Given the description of an element on the screen output the (x, y) to click on. 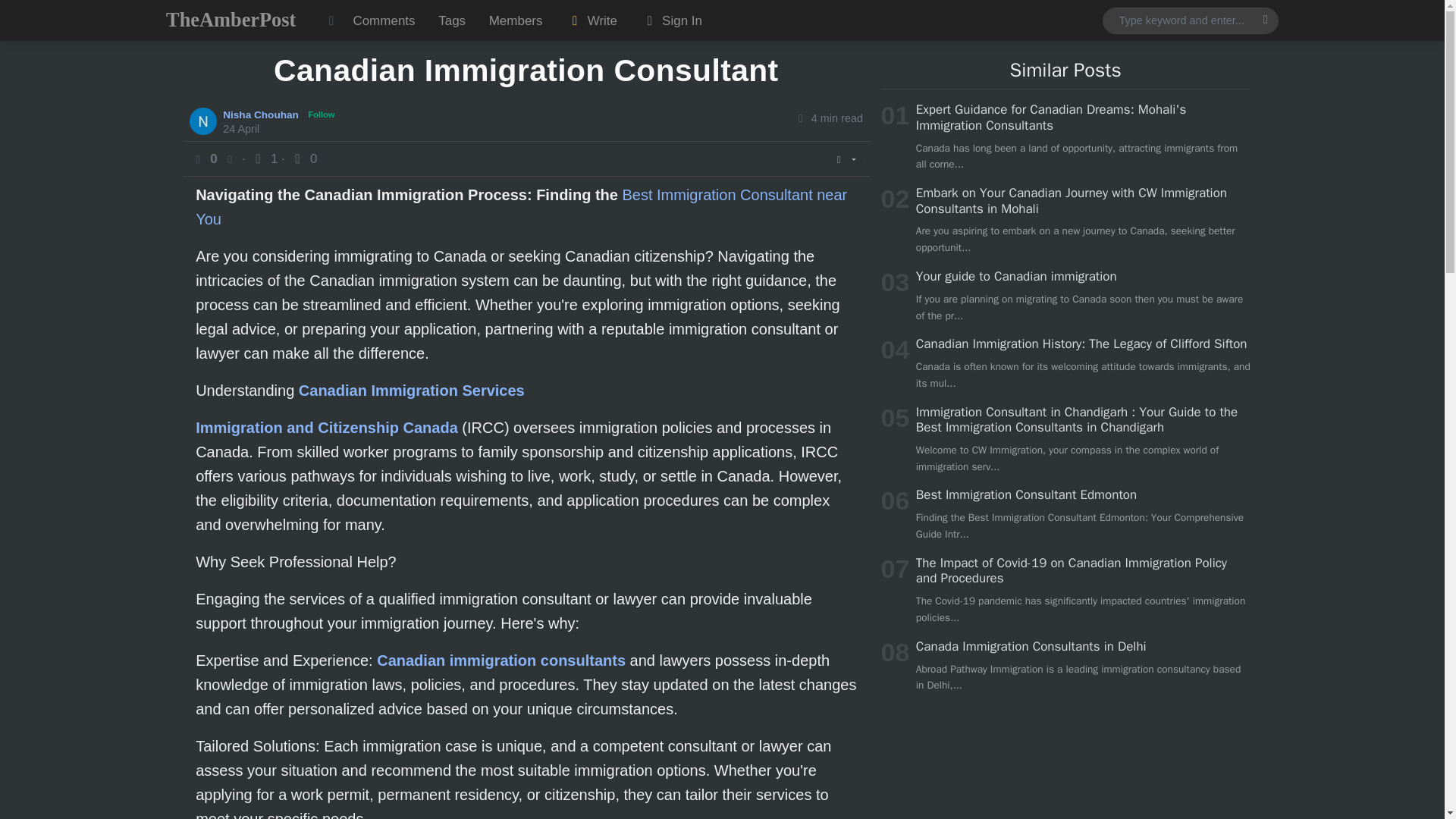
Follow (321, 114)
Best Immigration Consultant near You (521, 206)
0 (302, 158)
Canadian Immigration History: The Legacy of Clifford Sifton (1081, 343)
Comments (383, 20)
Immigration and Citizenship Canada (326, 427)
Canadian Immigration Services (411, 390)
Canadian immigration consultants (501, 660)
Tags (451, 20)
